Given the description of an element on the screen output the (x, y) to click on. 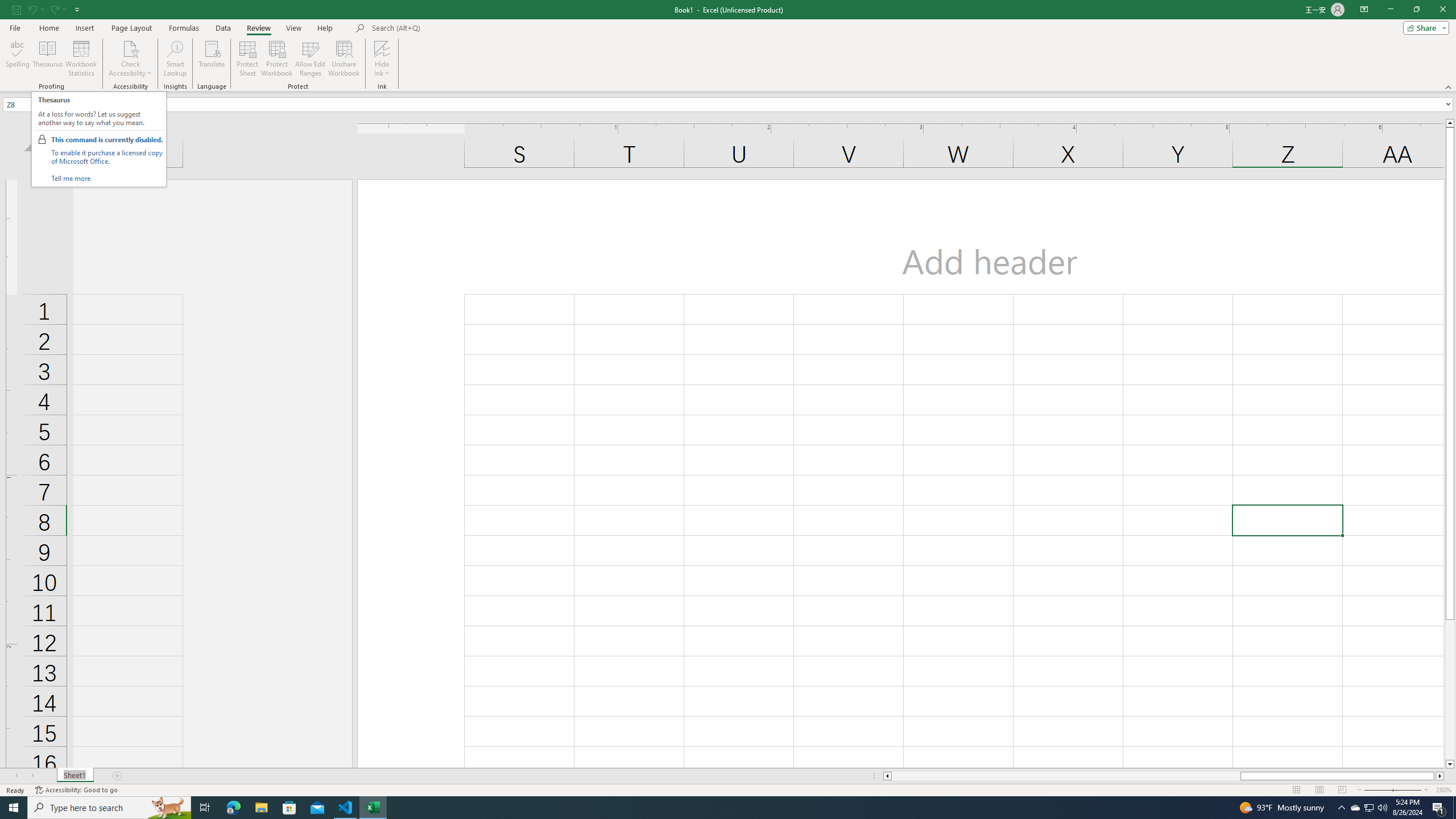
This command is currently disabled. (106, 139)
